Given the description of an element on the screen output the (x, y) to click on. 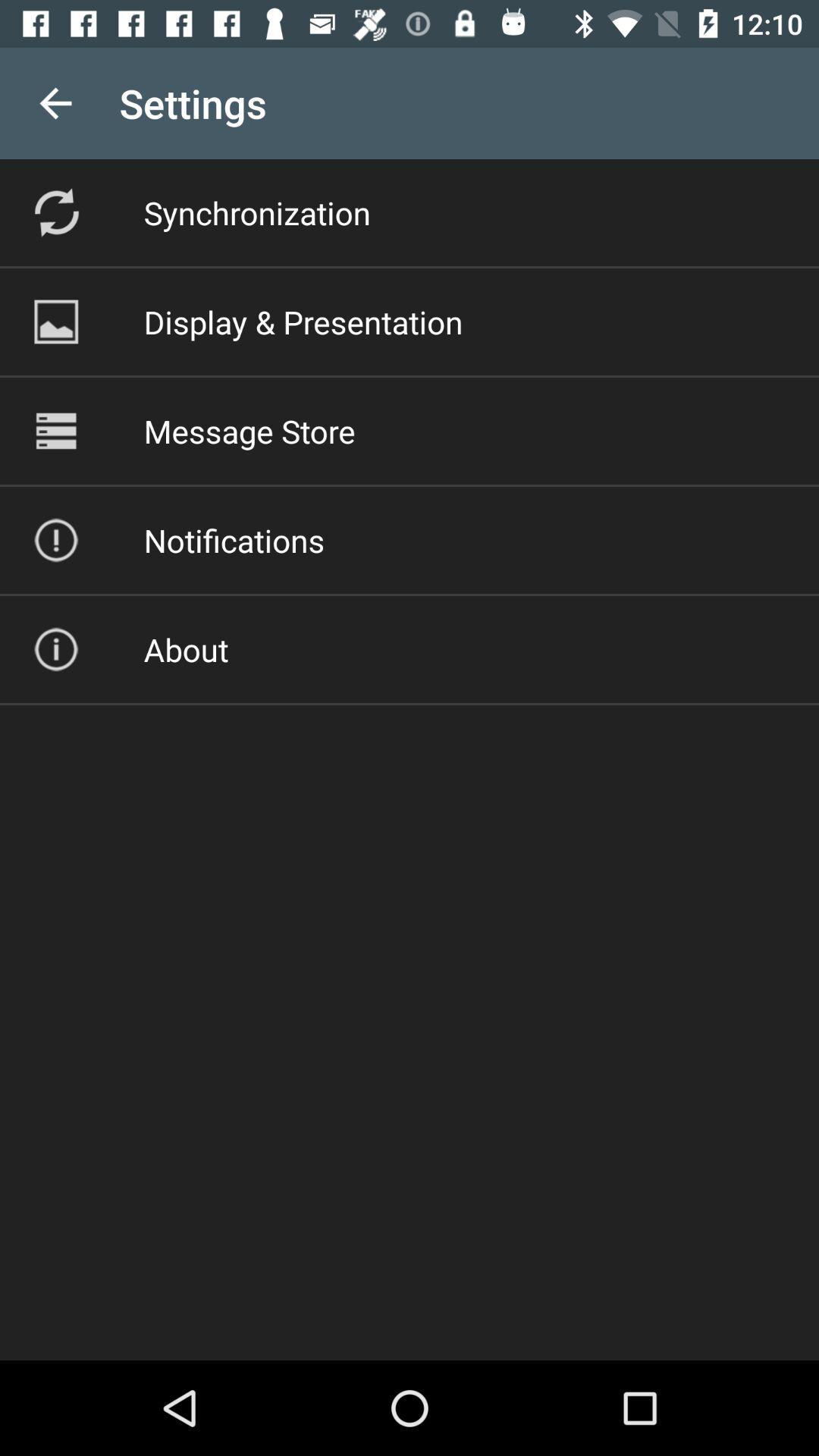
turn on the item above display & presentation icon (256, 212)
